Given the description of an element on the screen output the (x, y) to click on. 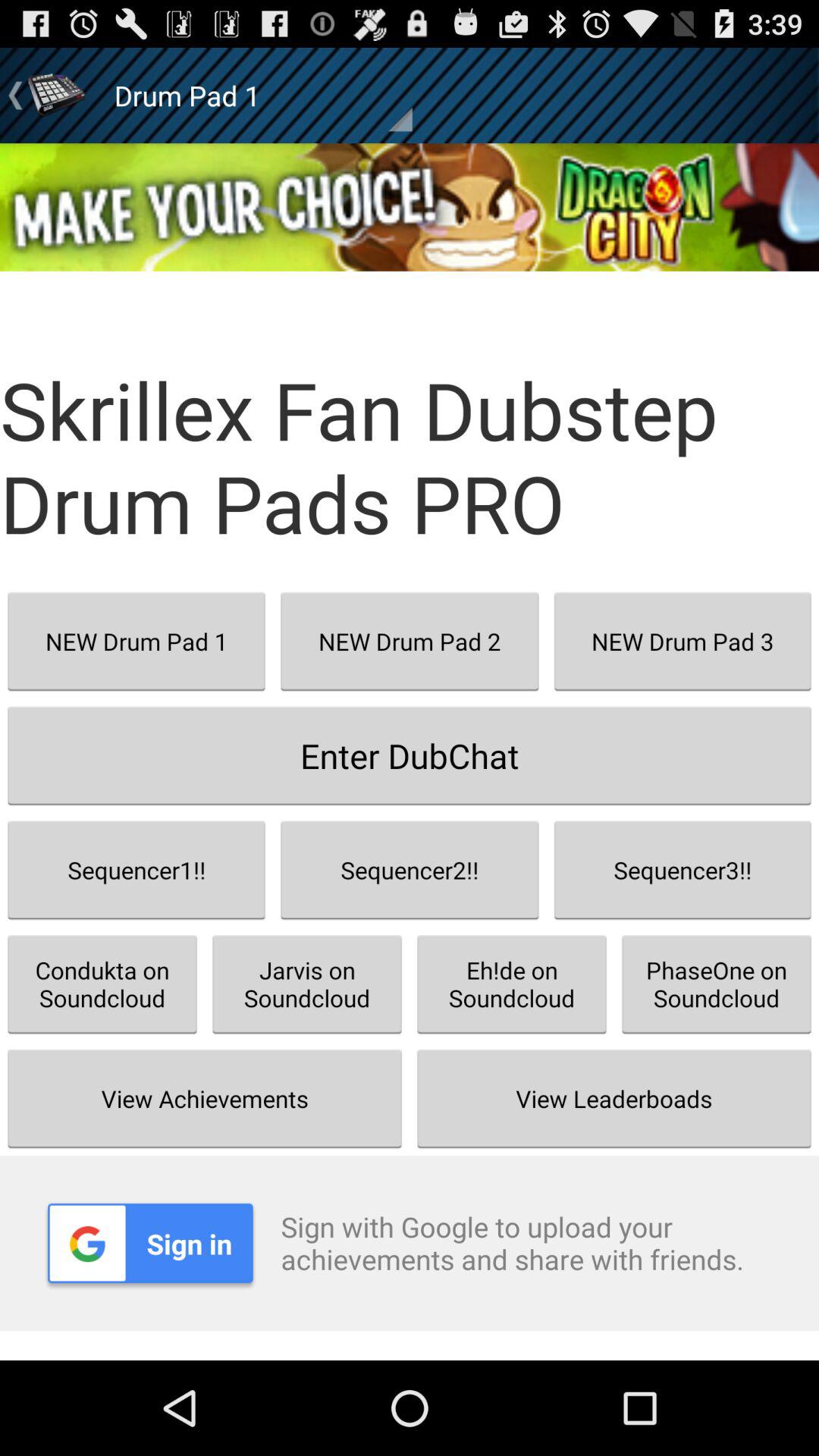
select jarvis on soundcloud (306, 984)
